Given the description of an element on the screen output the (x, y) to click on. 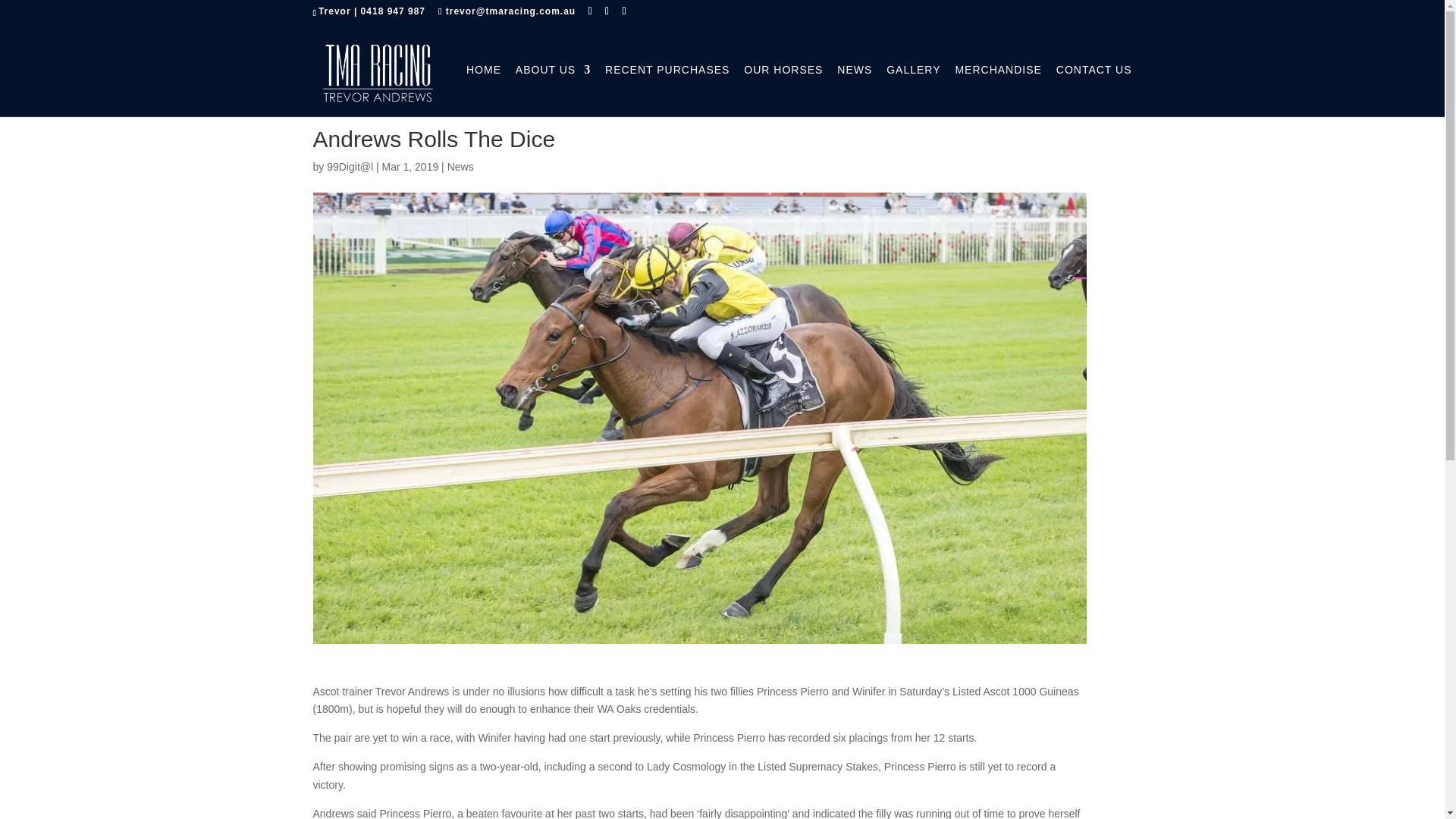
GALLERY (913, 84)
OUR HORSES (783, 84)
MERCHANDISE (998, 84)
0418 947 987 (393, 10)
News (460, 166)
ABOUT US (553, 84)
RECENT PURCHASES (667, 84)
CONTACT US (1094, 84)
